Given the description of an element on the screen output the (x, y) to click on. 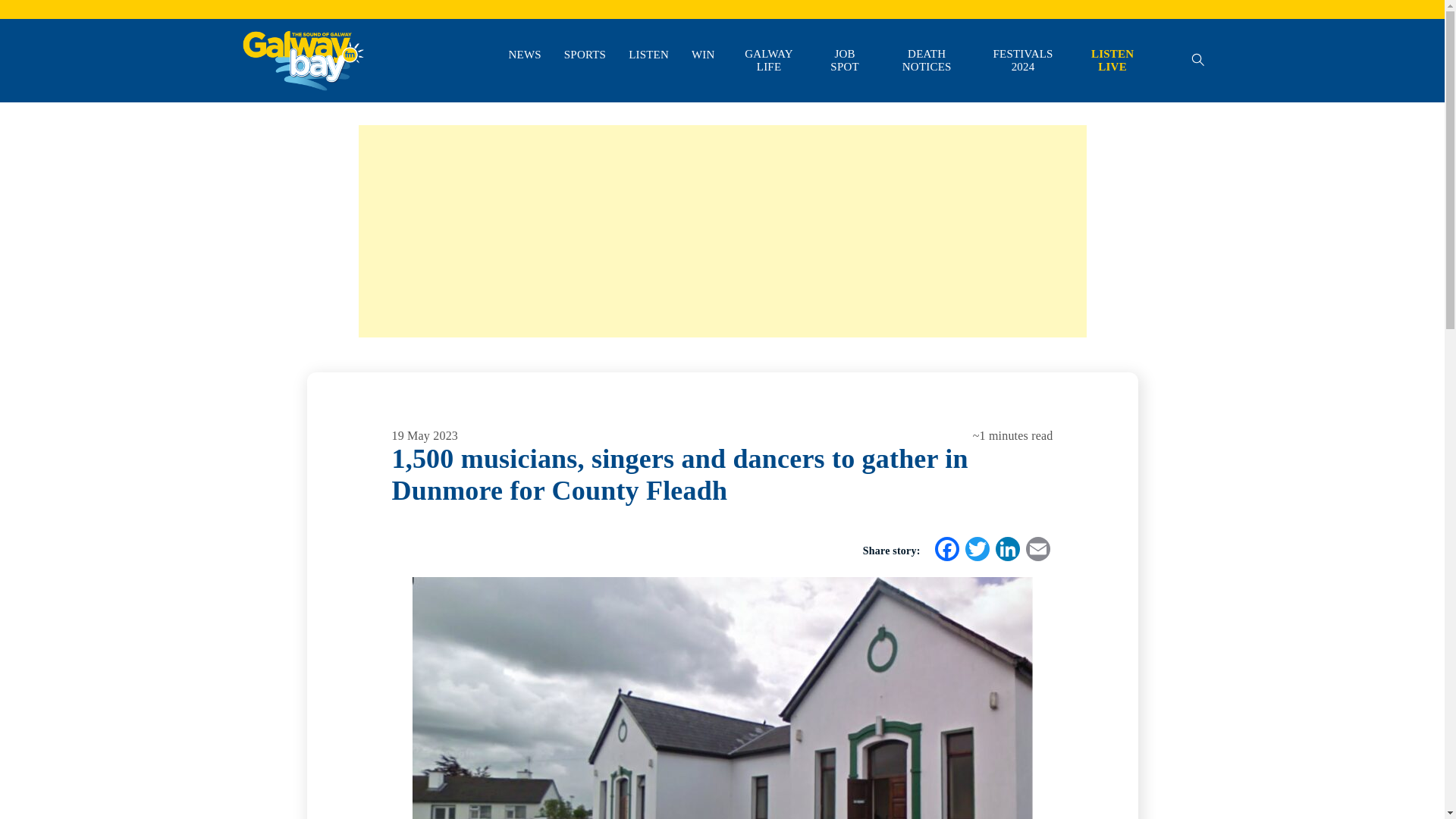
DEATH NOTICES (926, 60)
JOB SPOT (844, 60)
WIN (702, 54)
FESTIVALS 2024 (1023, 60)
LinkedIn (1006, 551)
Galway Bay FM (279, 112)
SPORTS (584, 54)
Facebook (945, 551)
Facebook (945, 551)
Twitter (975, 551)
GALWAY LIFE (769, 60)
NEWS (524, 54)
Email (1037, 551)
LISTEN (648, 54)
